Given the description of an element on the screen output the (x, y) to click on. 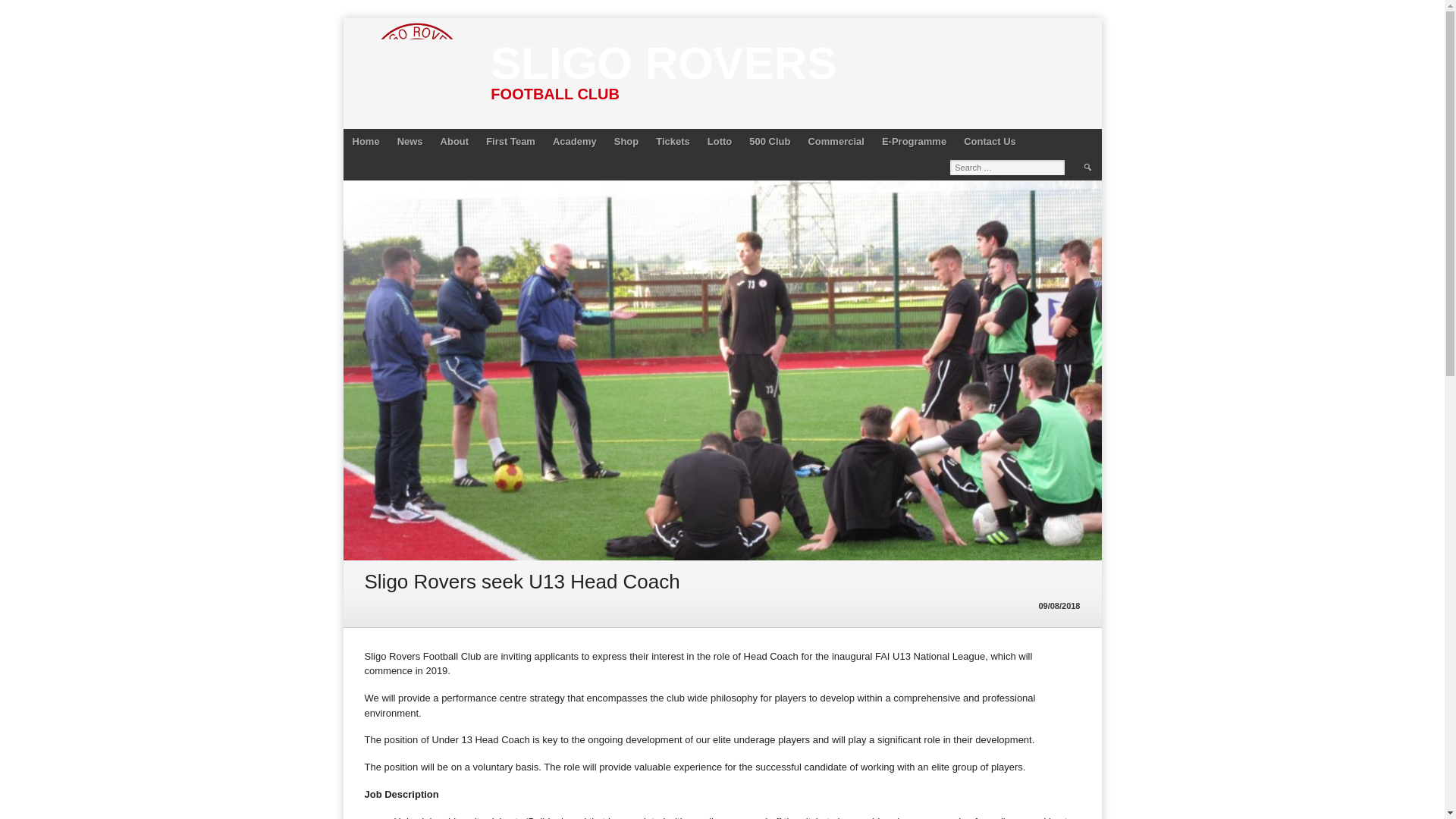
First Team (510, 141)
Home (365, 141)
SLIGO ROVERS (663, 62)
News (410, 141)
About (454, 141)
Search (1088, 167)
Academy (574, 141)
